Given the description of an element on the screen output the (x, y) to click on. 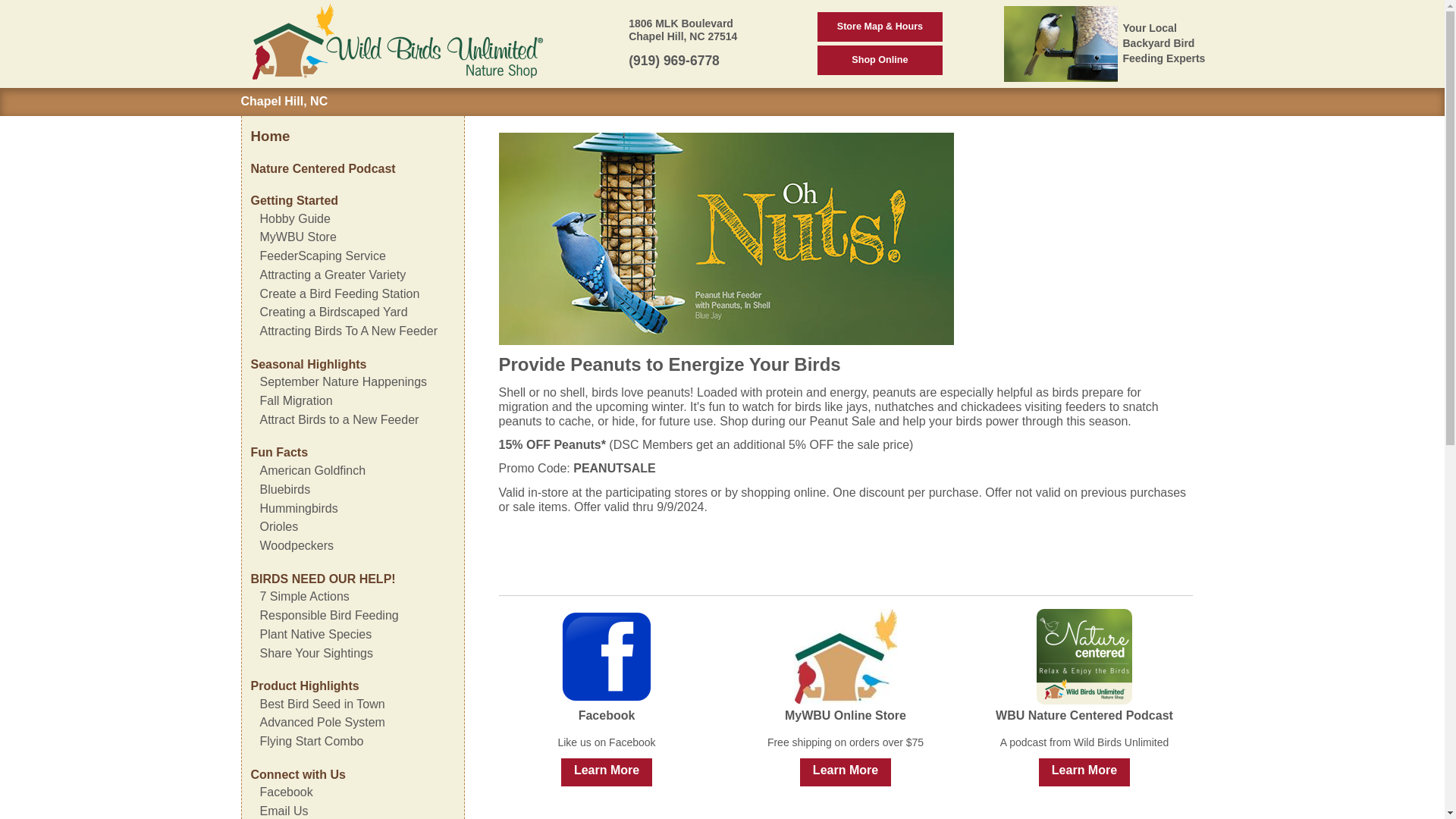
Hummingbirds (298, 508)
Nature Centered Podcast (322, 168)
Woodpeckers (296, 545)
Share Your Sightings (315, 653)
Orioles (278, 526)
Attract Birds to a New Feeder (339, 419)
Bluebirds (284, 489)
Getting Started (293, 200)
7 Simple Actions (304, 595)
Hobby Guide (294, 218)
